Given the description of an element on the screen output the (x, y) to click on. 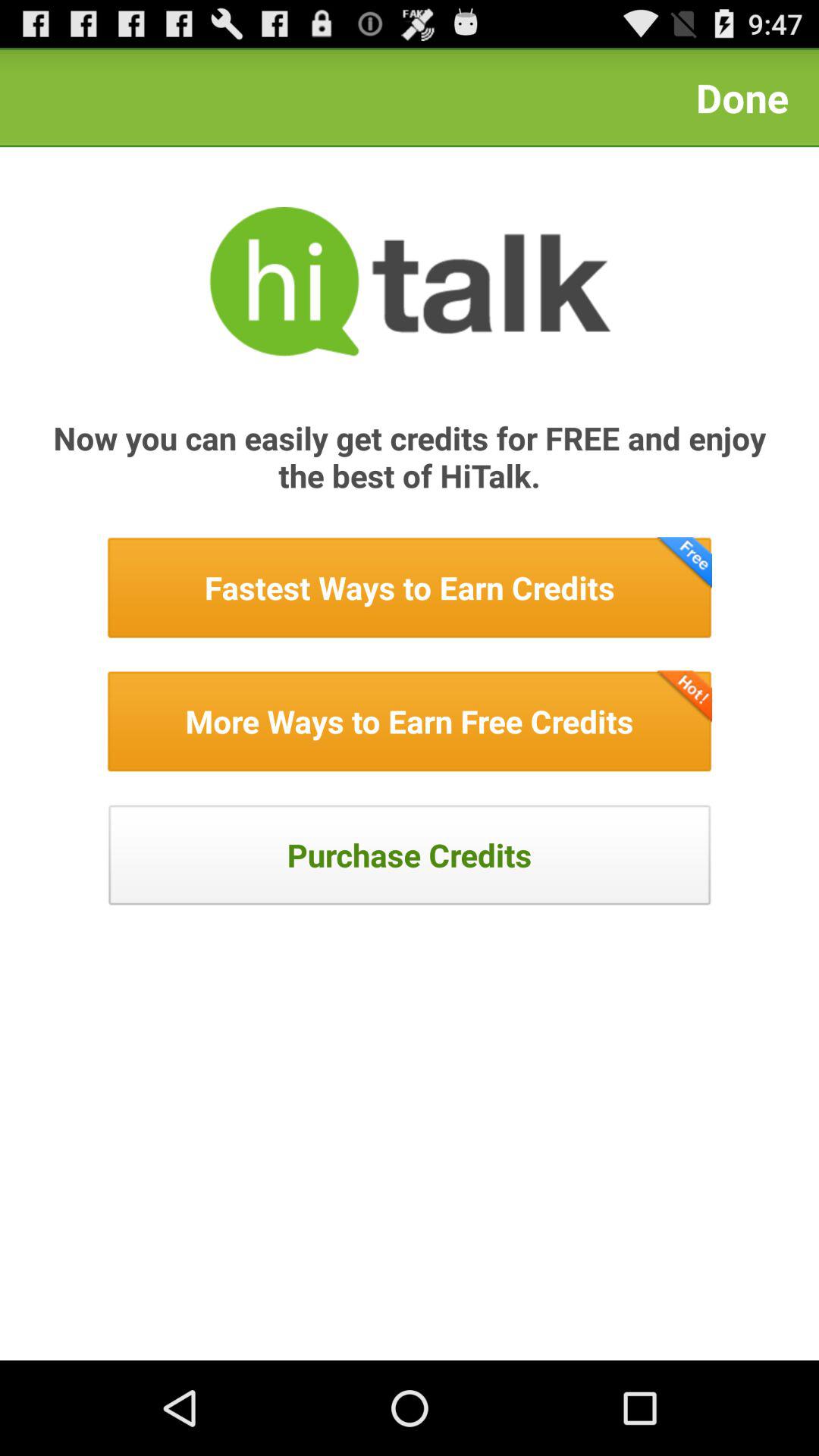
hyperlink to paid store (409, 855)
